Given the description of an element on the screen output the (x, y) to click on. 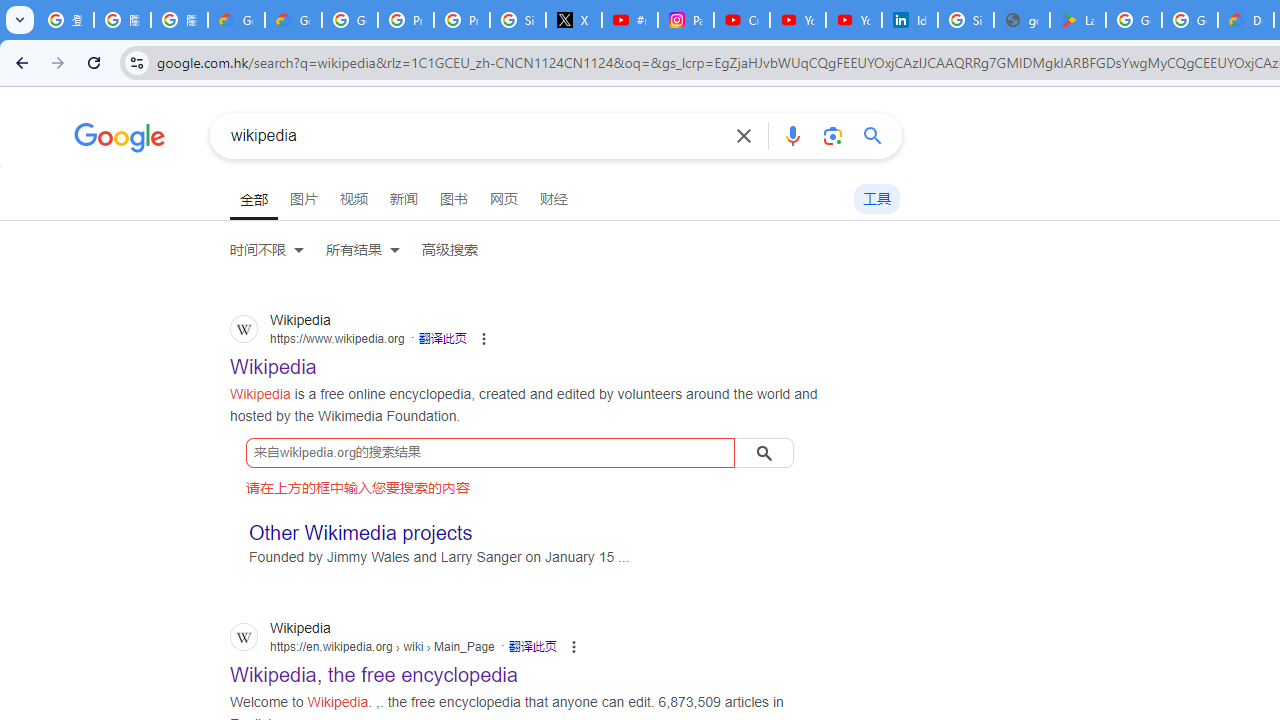
#nbabasketballhighlights - YouTube (629, 20)
 Wikipedia Wikipedia https://www.wikipedia.org (273, 361)
Other Wikimedia projects (361, 532)
